Given the description of an element on the screen output the (x, y) to click on. 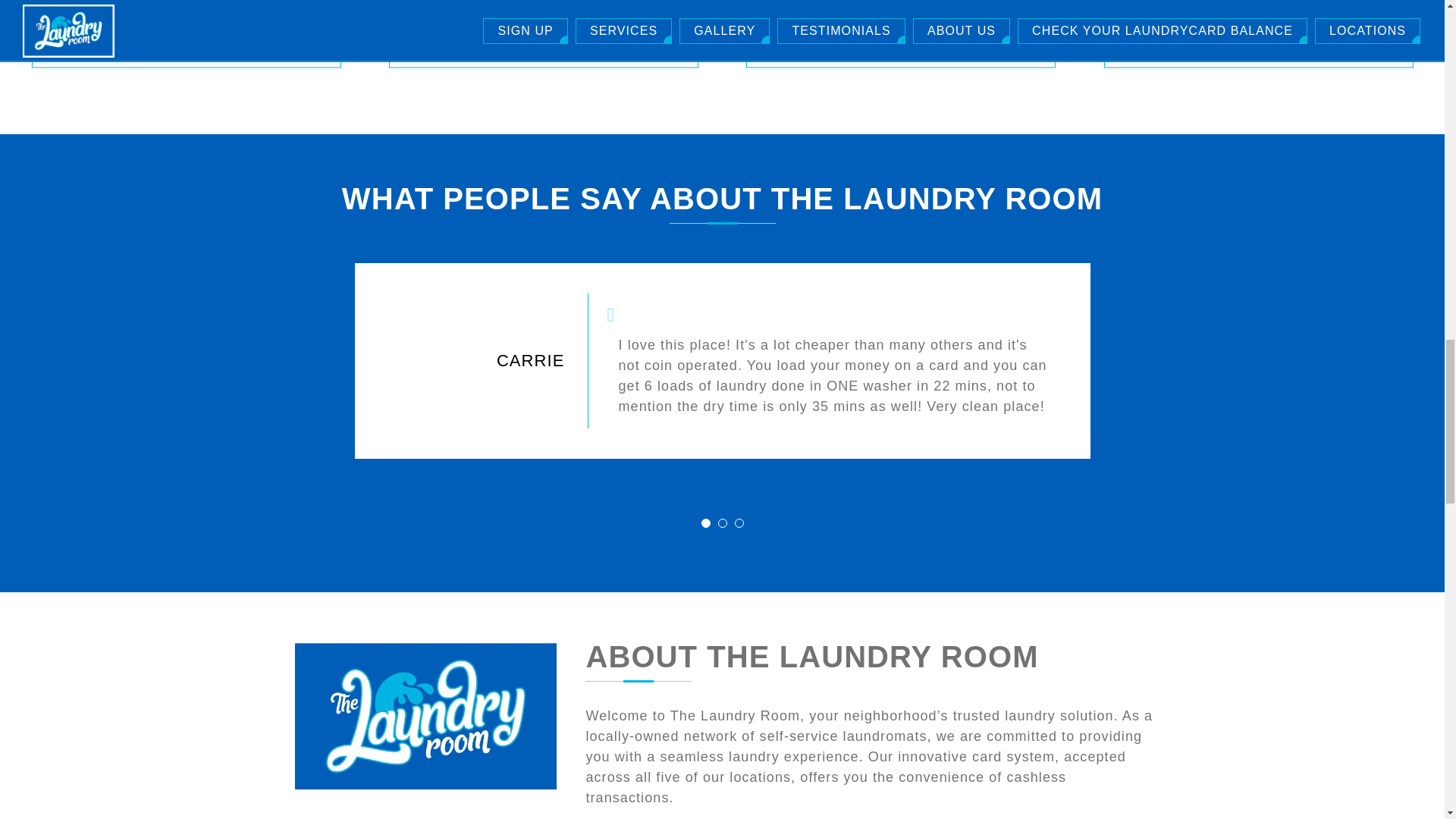
2 (721, 522)
3 (737, 522)
1 (705, 522)
